Given the description of an element on the screen output the (x, y) to click on. 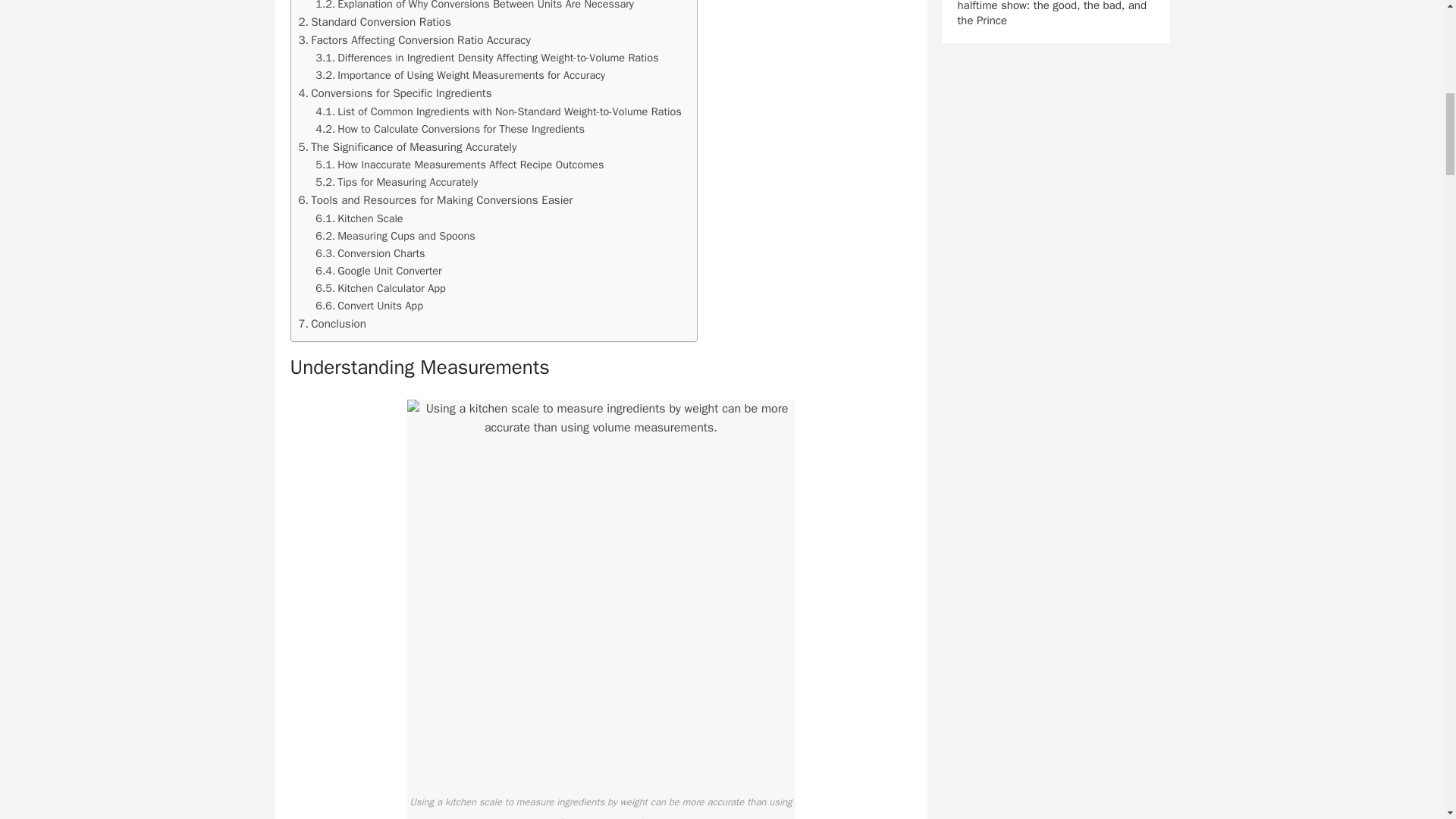
The Significance of Measuring Accurately (407, 147)
Standard Conversion Ratios (374, 22)
Conversions for Specific Ingredients (395, 93)
Factors Affecting Conversion Ratio Accuracy (414, 40)
How to Calculate Conversions for These Ingredients (450, 129)
Measuring Cups and Spoons (395, 235)
Kitchen Scale (359, 218)
Explanation of Why Conversions Between Units Are Necessary (474, 6)
Tools and Resources for Making Conversions Easier (435, 199)
